Given the description of an element on the screen output the (x, y) to click on. 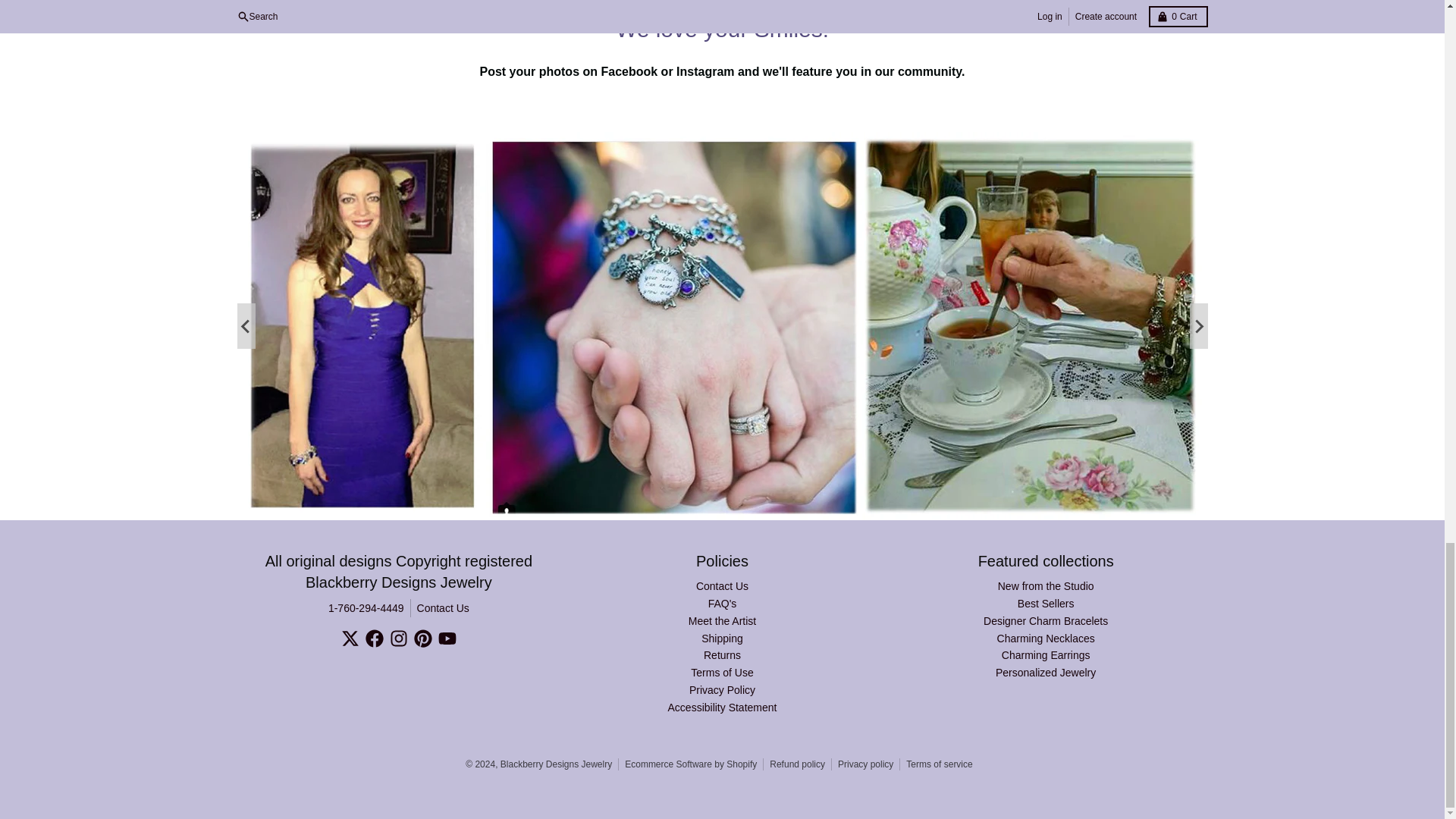
Twitter - Blackberry Designs Jewelry (349, 638)
YouTube - Blackberry Designs Jewelry (447, 638)
Facebook - Blackberry Designs Jewelry (374, 638)
Instagram - Blackberry Designs Jewelry (398, 638)
Pinterest - Blackberry Designs Jewelry (422, 638)
